Given the description of an element on the screen output the (x, y) to click on. 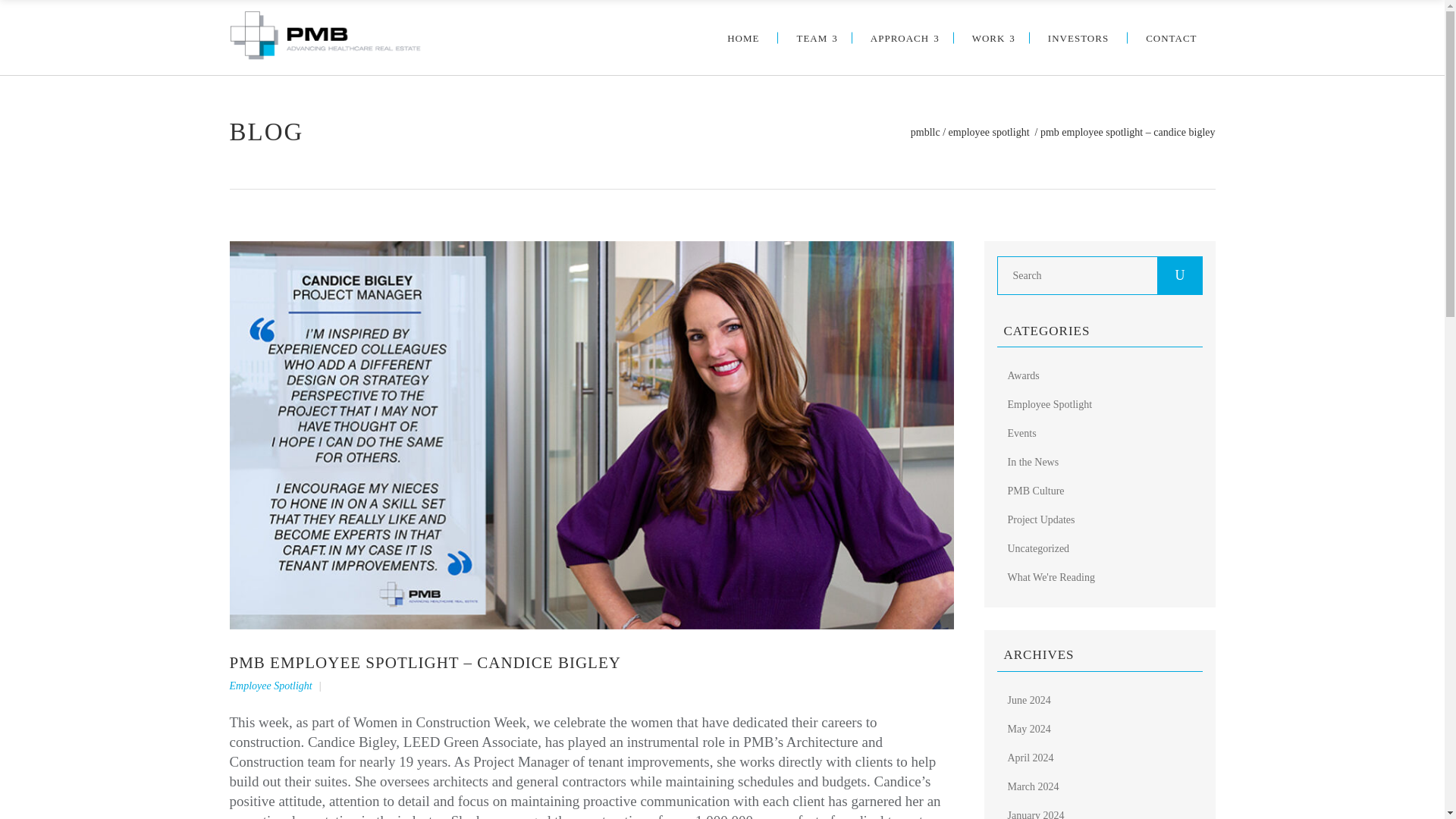
HOME (743, 37)
U (1179, 275)
TEAM (814, 37)
INVESTORS (1077, 37)
APPROACH (902, 37)
CONTACT (1170, 37)
WORK (991, 37)
